Given the description of an element on the screen output the (x, y) to click on. 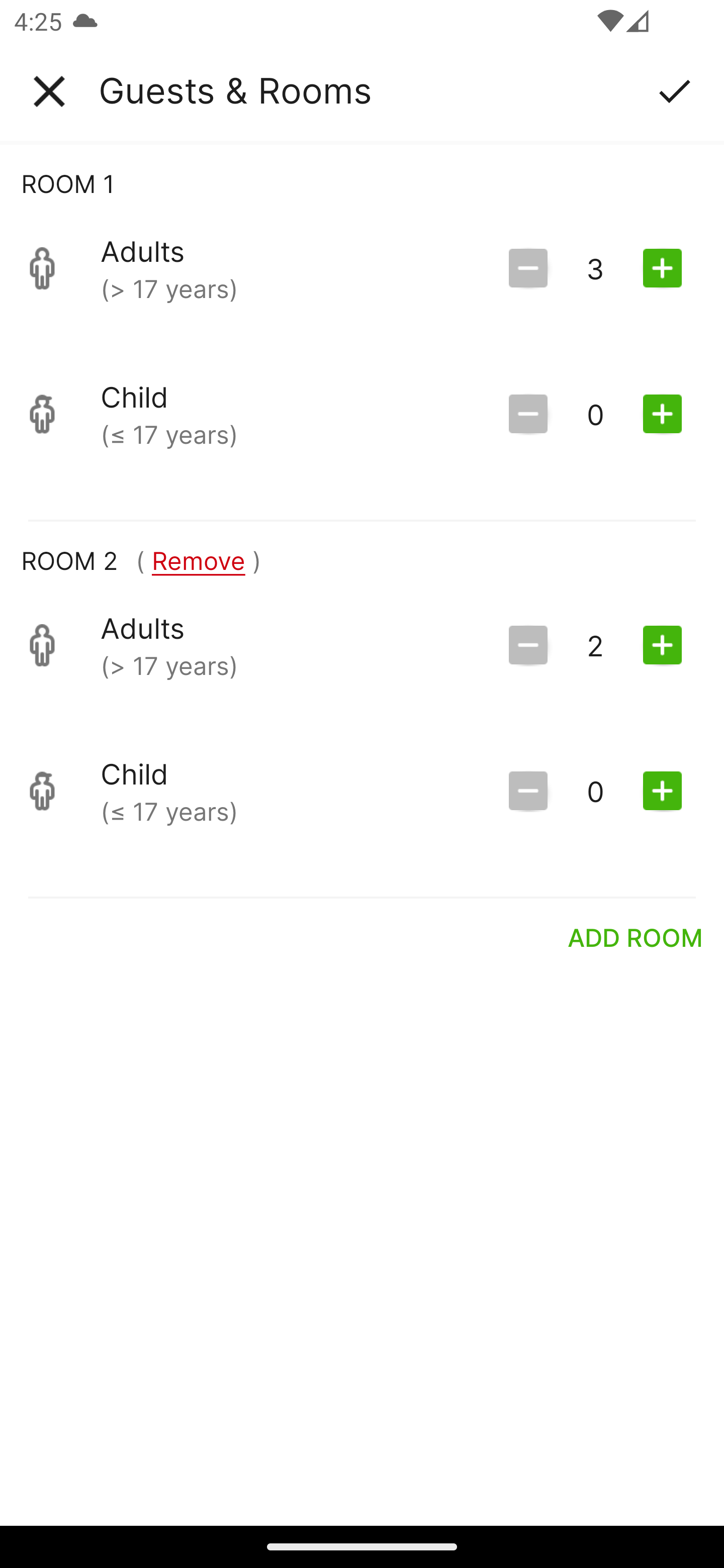
( Remove ) (198, 560)
ADD ROOM (635, 936)
